Given the description of an element on the screen output the (x, y) to click on. 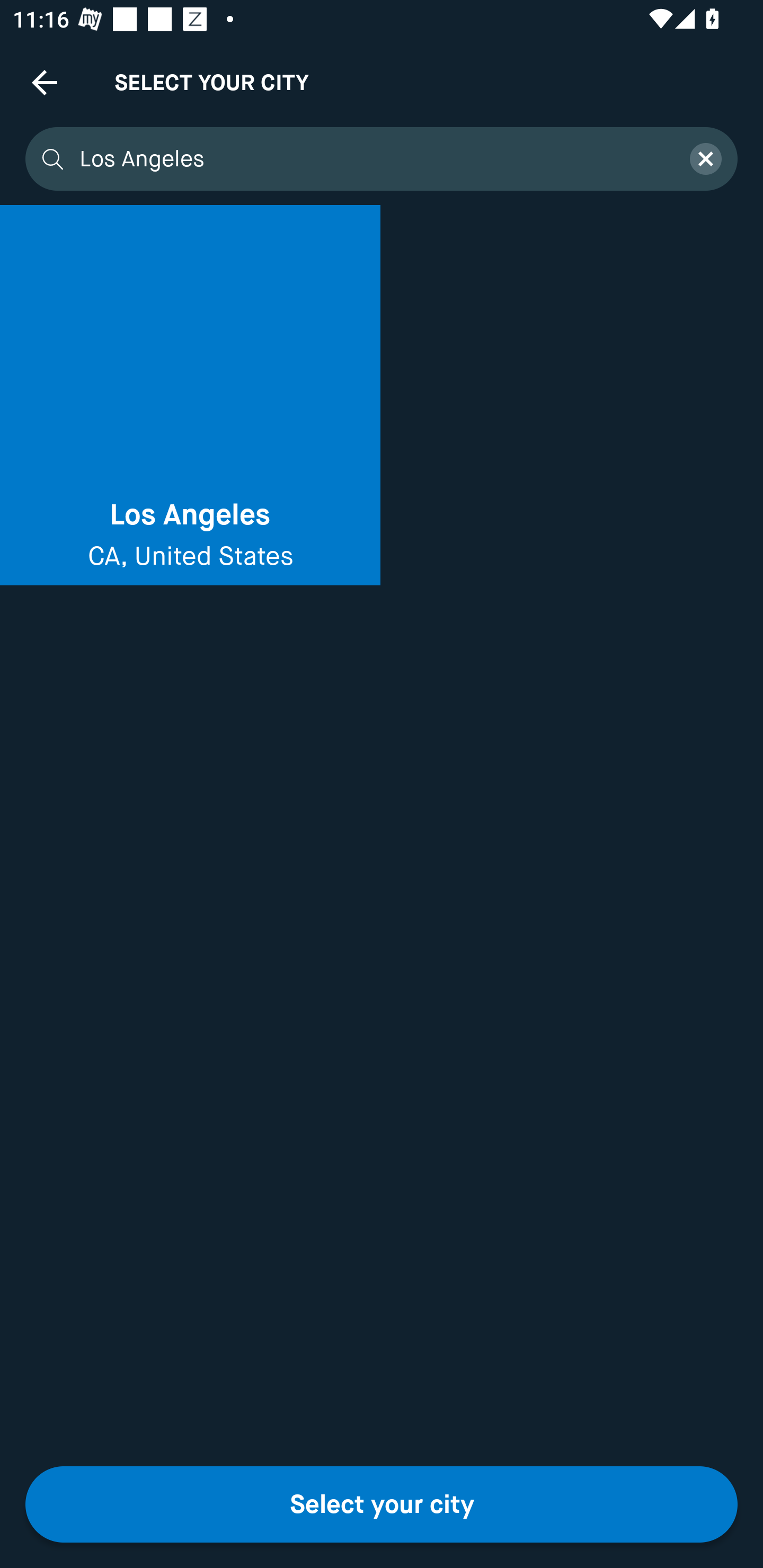
Navigate up (44, 82)
Los Angeles (373, 159)
Los Angeles CA, United States (190, 394)
Select your city (381, 1504)
